Given the description of an element on the screen output the (x, y) to click on. 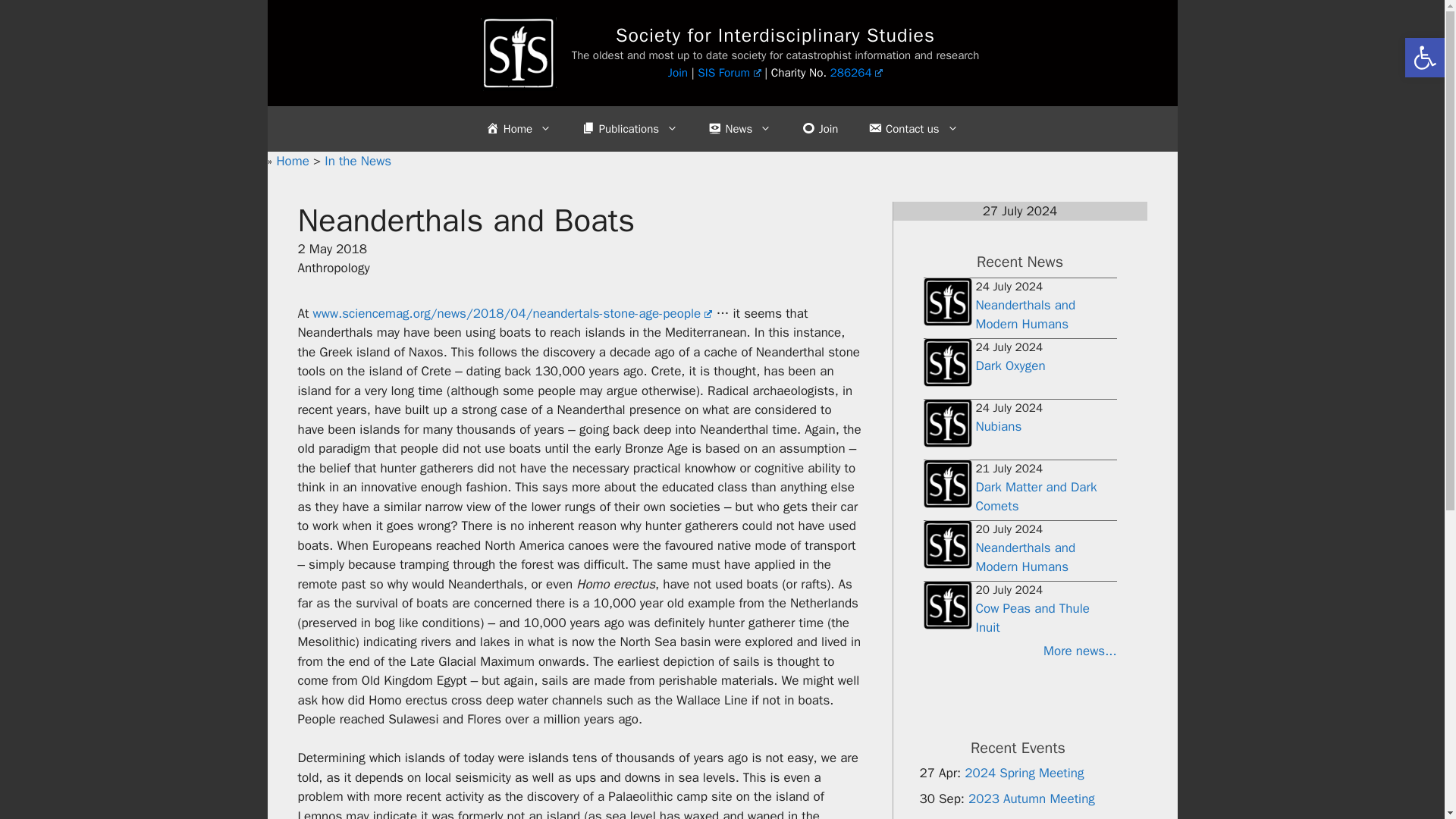
Home (294, 160)
Contact us (912, 128)
Join (677, 72)
SIS Forum (728, 72)
News (739, 128)
Publications (629, 128)
Home (518, 128)
286264 (856, 72)
Accessibility Tools (1424, 57)
Society for Interdisciplinary Studies (774, 34)
Join (819, 128)
